Given the description of an element on the screen output the (x, y) to click on. 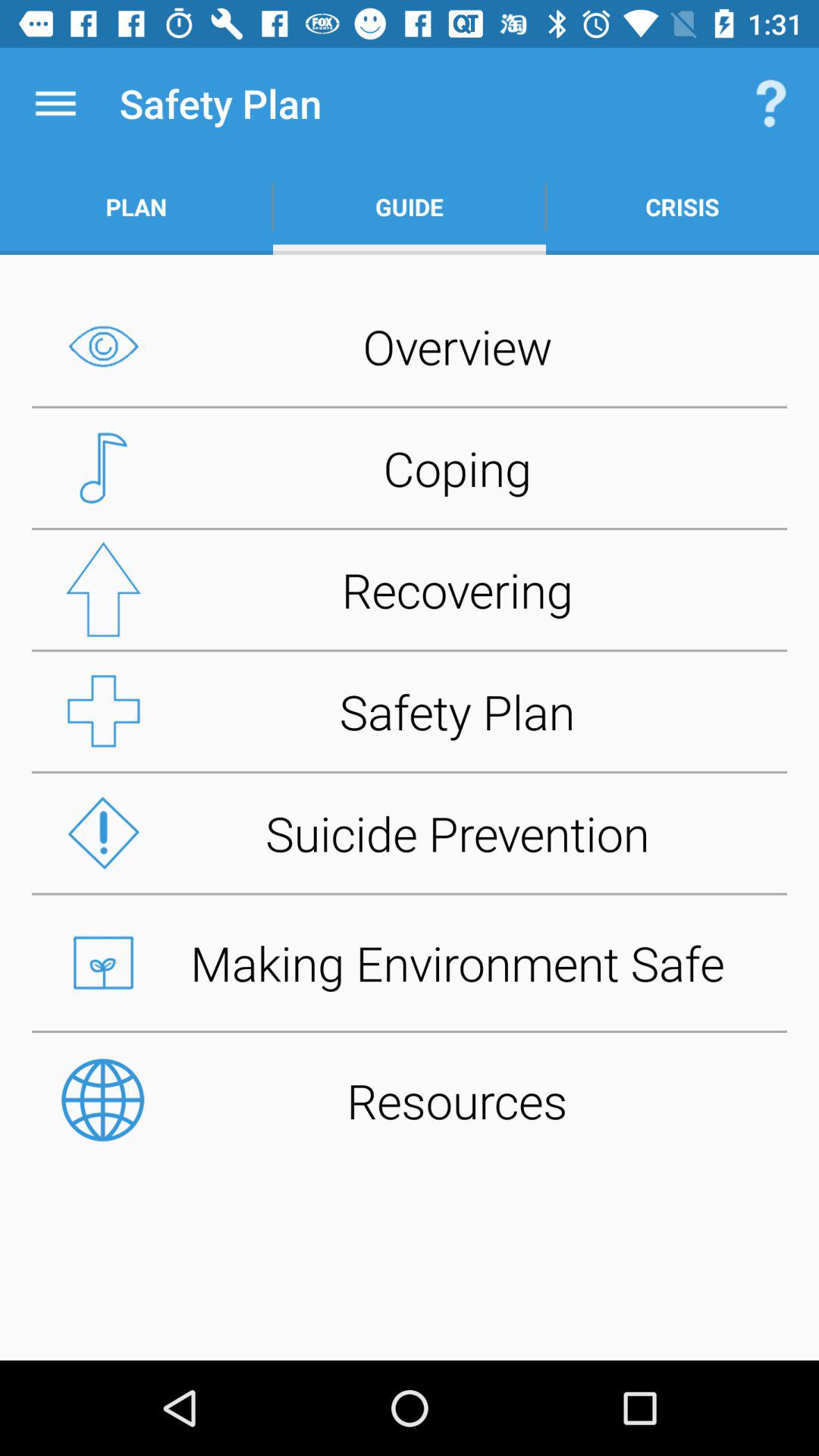
swipe until recovering button (409, 589)
